Given the description of an element on the screen output the (x, y) to click on. 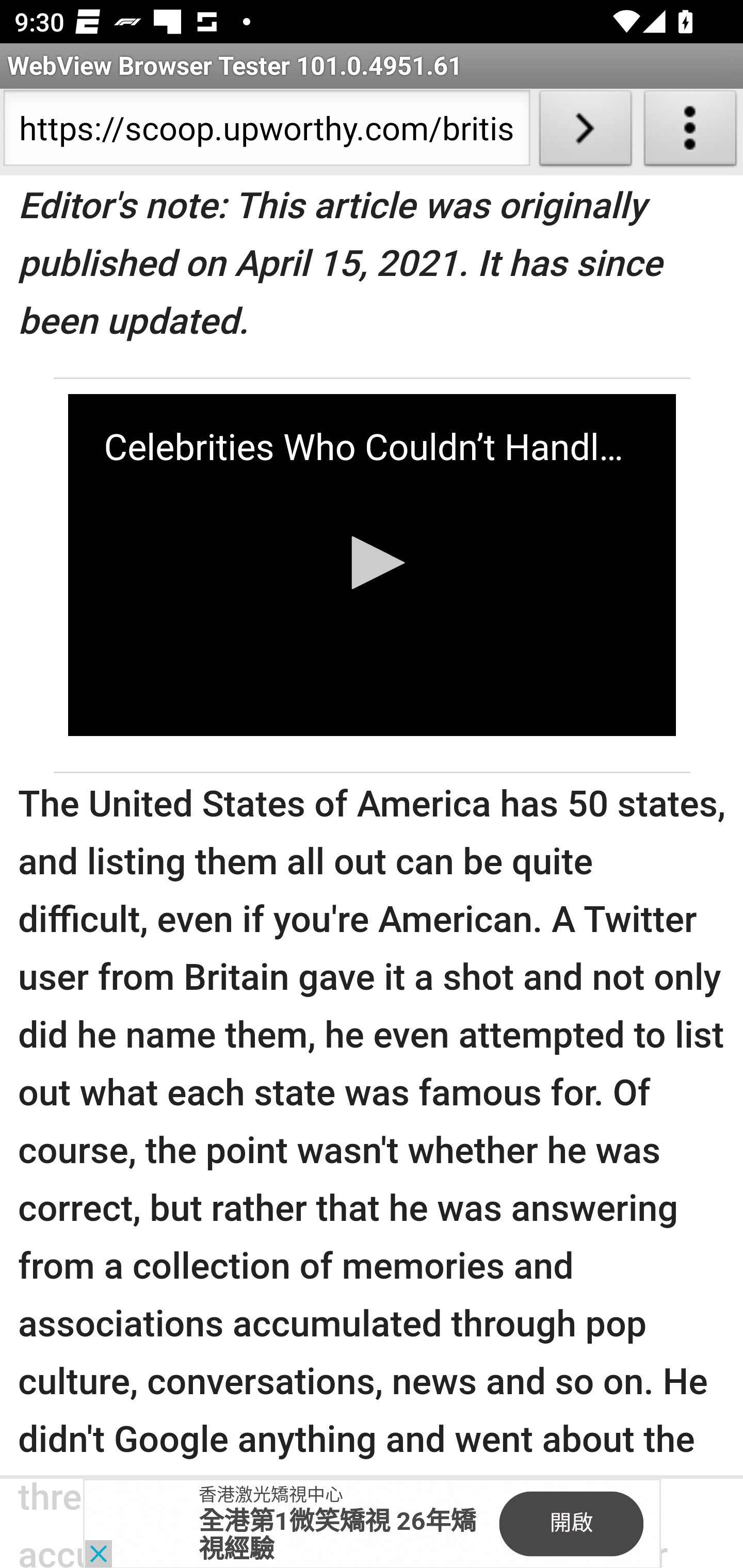
Load URL (585, 132)
About WebView (690, 132)
Play (371, 564)
